Given the description of an element on the screen output the (x, y) to click on. 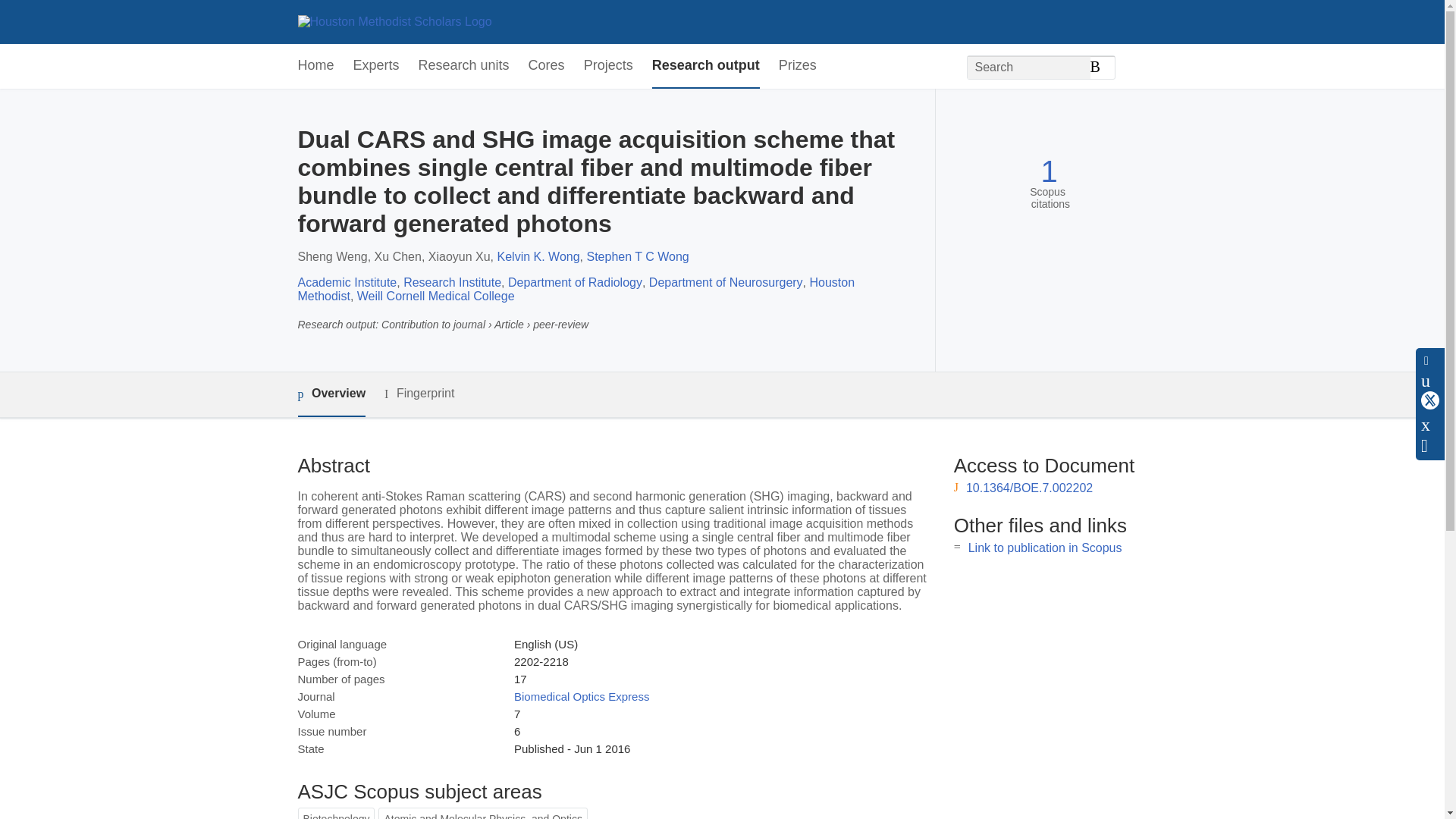
Link to publication in Scopus (1045, 547)
Fingerprint (419, 393)
Kelvin K. Wong (538, 256)
Biomedical Optics Express (581, 696)
Weill Cornell Medical College (435, 295)
Houston Methodist (575, 289)
Projects (608, 66)
Stephen T C Wong (637, 256)
Department of Neurosurgery (726, 282)
Research Institute (451, 282)
Department of Radiology (575, 282)
Houston Methodist Scholars Home (394, 21)
Experts (375, 66)
Research units (464, 66)
